Given the description of an element on the screen output the (x, y) to click on. 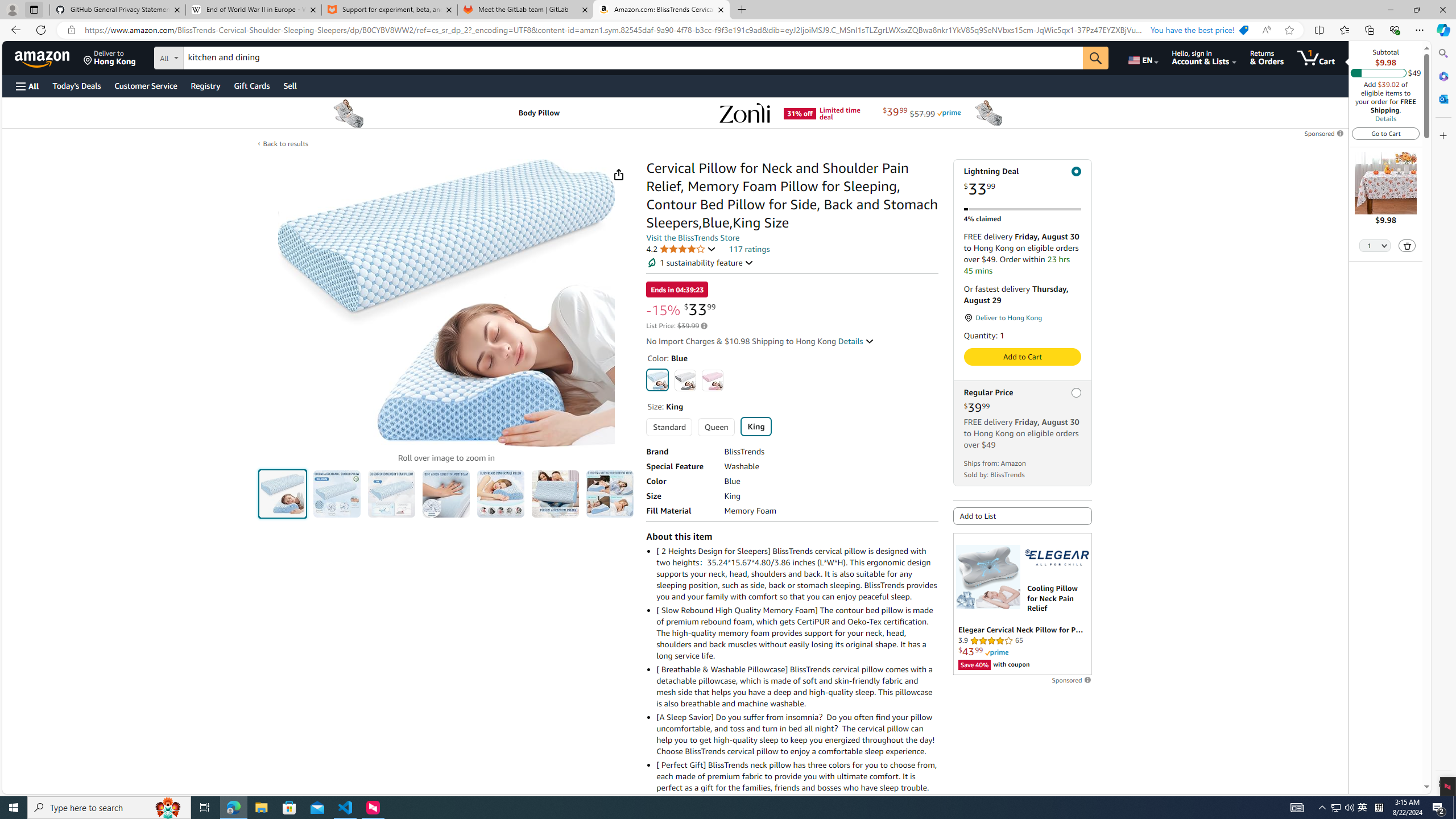
Quantity Selector (1374, 246)
Meet the GitLab team | GitLab (525, 9)
Choose a language for shopping. (1142, 57)
Learn more about Amazon pricing and savings (703, 325)
Hello, sign in Account & Lists (1203, 57)
Blue (657, 379)
